Given the description of an element on the screen output the (x, y) to click on. 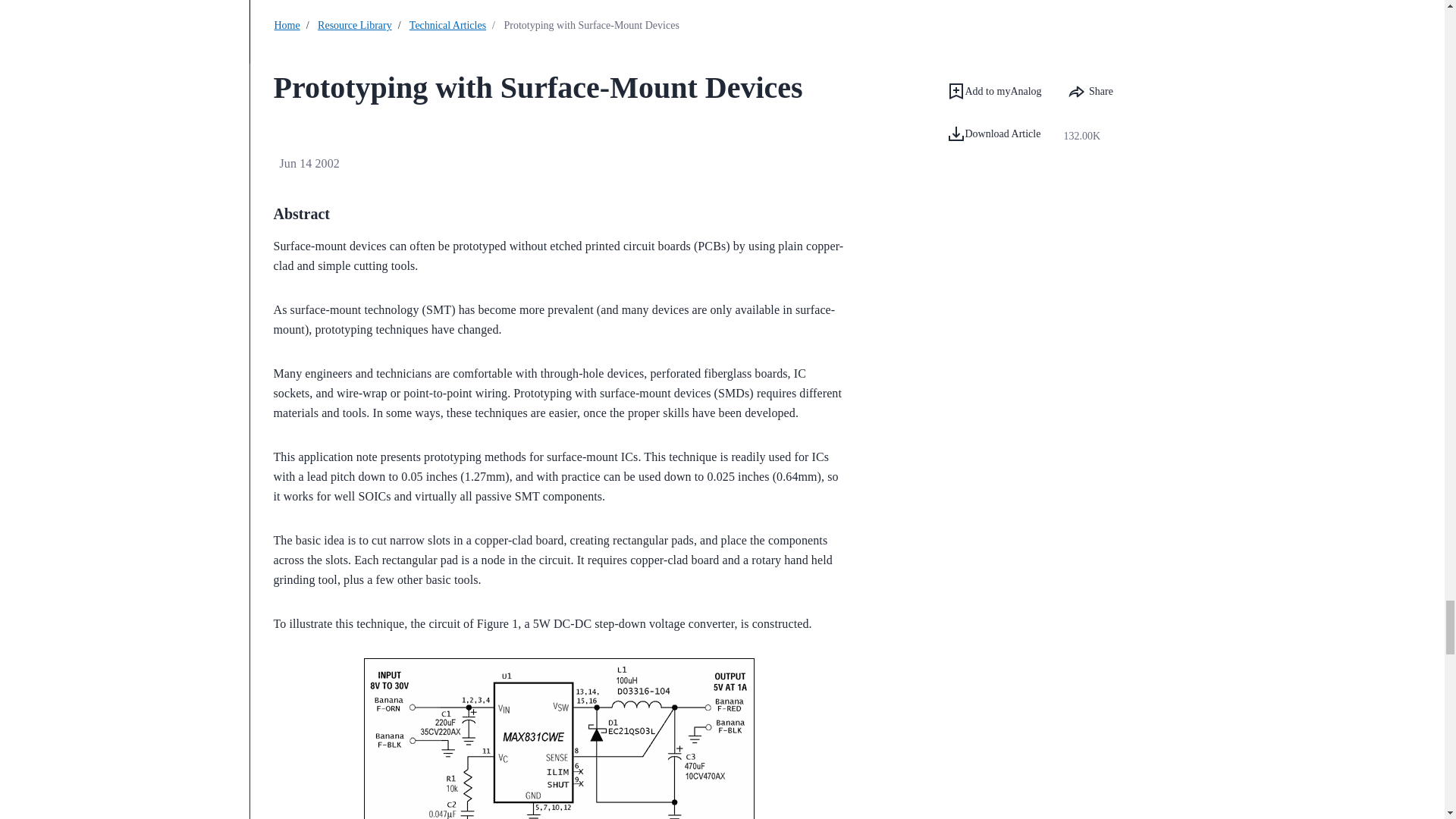
Share (1090, 91)
Home (287, 25)
Download Article (993, 134)
Add to myAnalog (993, 91)
Resource Library (354, 25)
Download Article (1002, 136)
Technical Articles (447, 25)
